Given the description of an element on the screen output the (x, y) to click on. 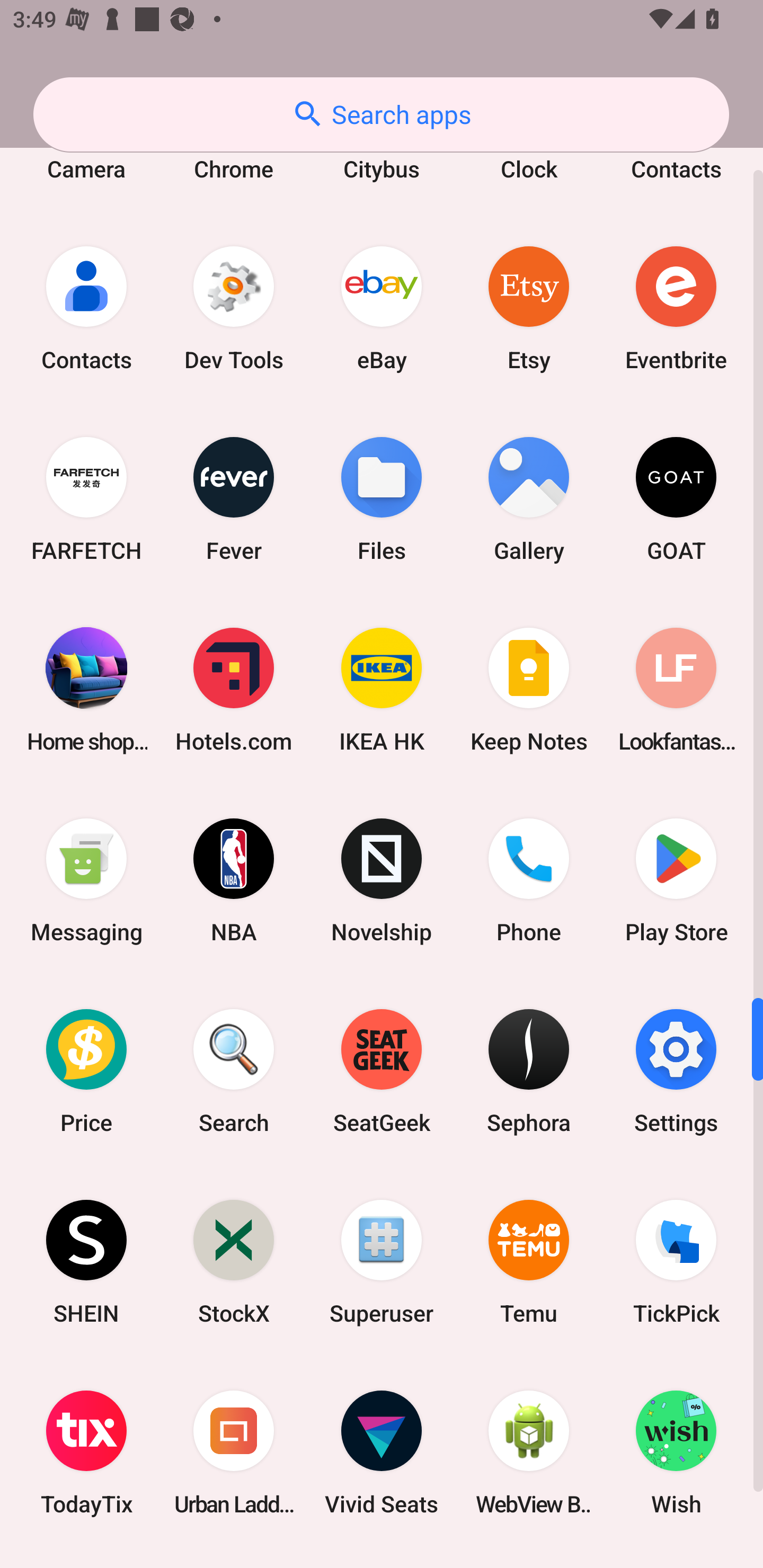
  Search apps (381, 114)
Contacts (86, 307)
Dev Tools (233, 307)
eBay (381, 307)
Etsy (528, 307)
Eventbrite (676, 307)
FARFETCH (86, 498)
Fever (233, 498)
Files (381, 498)
Gallery (528, 498)
GOAT (676, 498)
Home shopping (86, 689)
Hotels.com (233, 689)
IKEA HK (381, 689)
Keep Notes (528, 689)
Lookfantastic (676, 689)
Messaging (86, 880)
NBA (233, 880)
Novelship (381, 880)
Phone (528, 880)
Play Store (676, 880)
Price (86, 1070)
Search (233, 1070)
SeatGeek (381, 1070)
Sephora (528, 1070)
Settings (676, 1070)
SHEIN (86, 1261)
StockX (233, 1261)
Superuser (381, 1261)
Temu (528, 1261)
TickPick (676, 1261)
TodayTix (86, 1452)
Urban Ladder (233, 1452)
Vivid Seats (381, 1452)
WebView Browser Tester (528, 1452)
Wish (676, 1452)
